Given the description of an element on the screen output the (x, y) to click on. 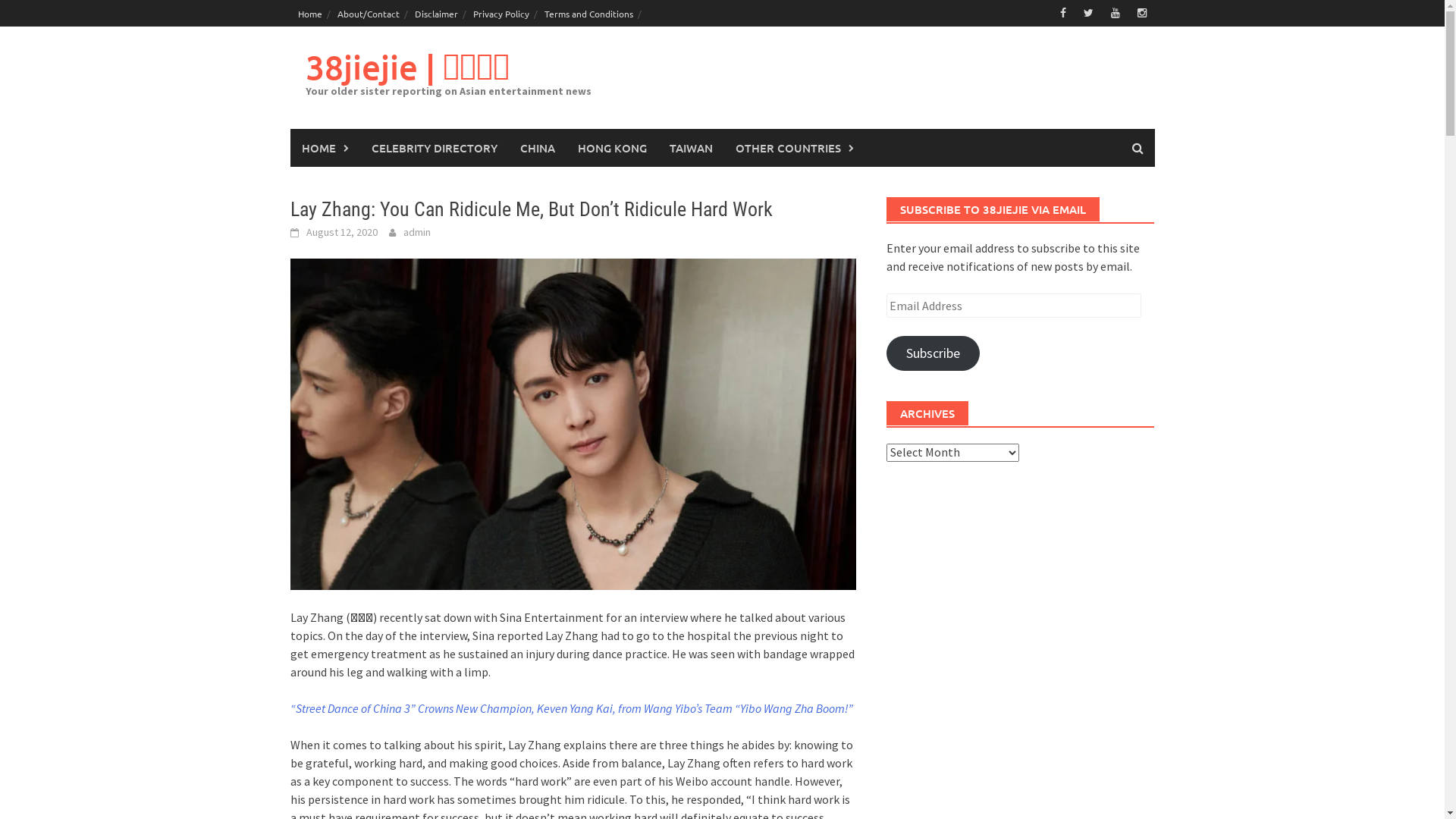
OTHER COUNTRIES Element type: text (793, 147)
Subscribe Element type: text (932, 352)
HONG KONG Element type: text (611, 147)
TAIWAN Element type: text (691, 147)
HOME Element type: text (324, 147)
admin Element type: text (416, 231)
Terms and Conditions Element type: text (588, 13)
CELEBRITY DIRECTORY Element type: text (433, 147)
Home Element type: text (309, 13)
Disclaimer Element type: text (435, 13)
August 12, 2020 Element type: text (341, 231)
About/Contact Element type: text (367, 13)
CHINA Element type: text (536, 147)
Privacy Policy Element type: text (500, 13)
